Given the description of an element on the screen output the (x, y) to click on. 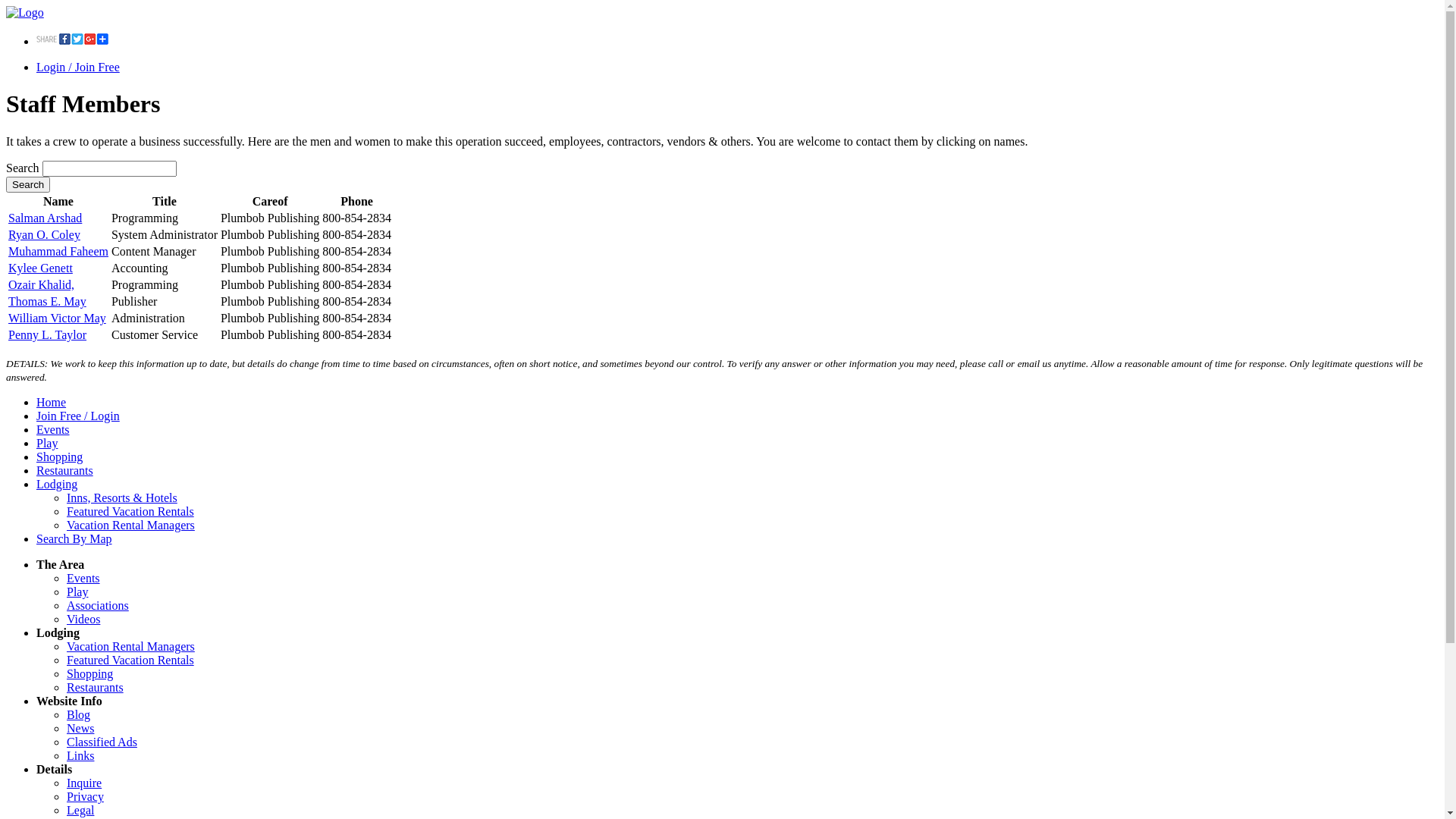
Videos Element type: text (83, 618)
Inquire Element type: text (83, 782)
Home Element type: text (50, 401)
Classified Ads Element type: text (101, 741)
Vacation Rental Managers Element type: text (130, 524)
Links Element type: text (80, 755)
Inns, Resorts & Hotels Element type: text (121, 497)
Restaurants Element type: text (64, 470)
Events Element type: text (52, 429)
Salman Arshad Element type: text (44, 217)
William Victor May Element type: text (57, 317)
Penny L. Taylor Element type: text (47, 334)
Play Element type: text (76, 591)
Ryan O. Coley Element type: text (44, 234)
News Element type: text (80, 727)
Events Element type: text (83, 577)
Shopping Element type: text (89, 673)
Blog Element type: text (78, 714)
Featured Vacation Rentals Element type: text (130, 659)
Vacation Rental Managers Element type: text (130, 646)
Search Element type: text (28, 184)
Featured Vacation Rentals Element type: text (130, 511)
Shopping Element type: text (59, 456)
Join Free / Login Element type: text (77, 415)
Muhammad Faheem Element type: text (58, 250)
Thomas E. May Element type: text (47, 300)
Privacy Element type: text (84, 796)
Ozair Khalid, Element type: text (41, 284)
Play Element type: text (46, 442)
Lodging Element type: text (56, 483)
Legal Element type: text (80, 809)
Login / Join Free Element type: text (77, 66)
Kylee Genett Element type: text (40, 267)
Search By Map Element type: text (74, 538)
Restaurants Element type: text (94, 686)
Associations Element type: text (97, 605)
